Given the description of an element on the screen output the (x, y) to click on. 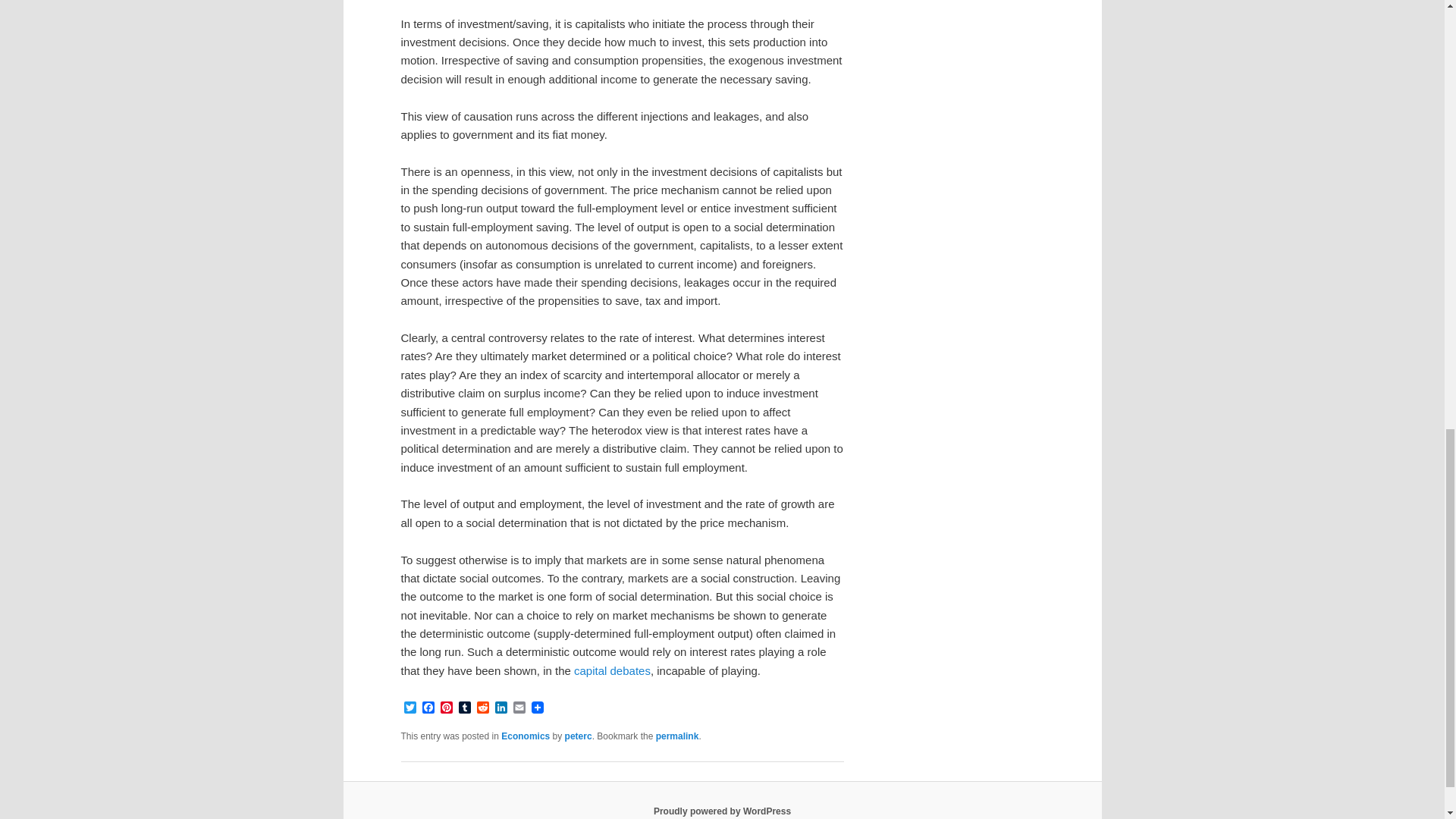
LinkedIn (500, 708)
LinkedIn (500, 708)
Pinterest (445, 708)
peterc (578, 736)
Permalink to The Debate over Investment and Saving (677, 736)
capital debates (611, 670)
Facebook (427, 708)
permalink (677, 736)
Tumblr (463, 708)
Email (518, 708)
Pinterest (445, 708)
Email (518, 708)
Tumblr (463, 708)
Facebook (427, 708)
Twitter (409, 708)
